Given the description of an element on the screen output the (x, y) to click on. 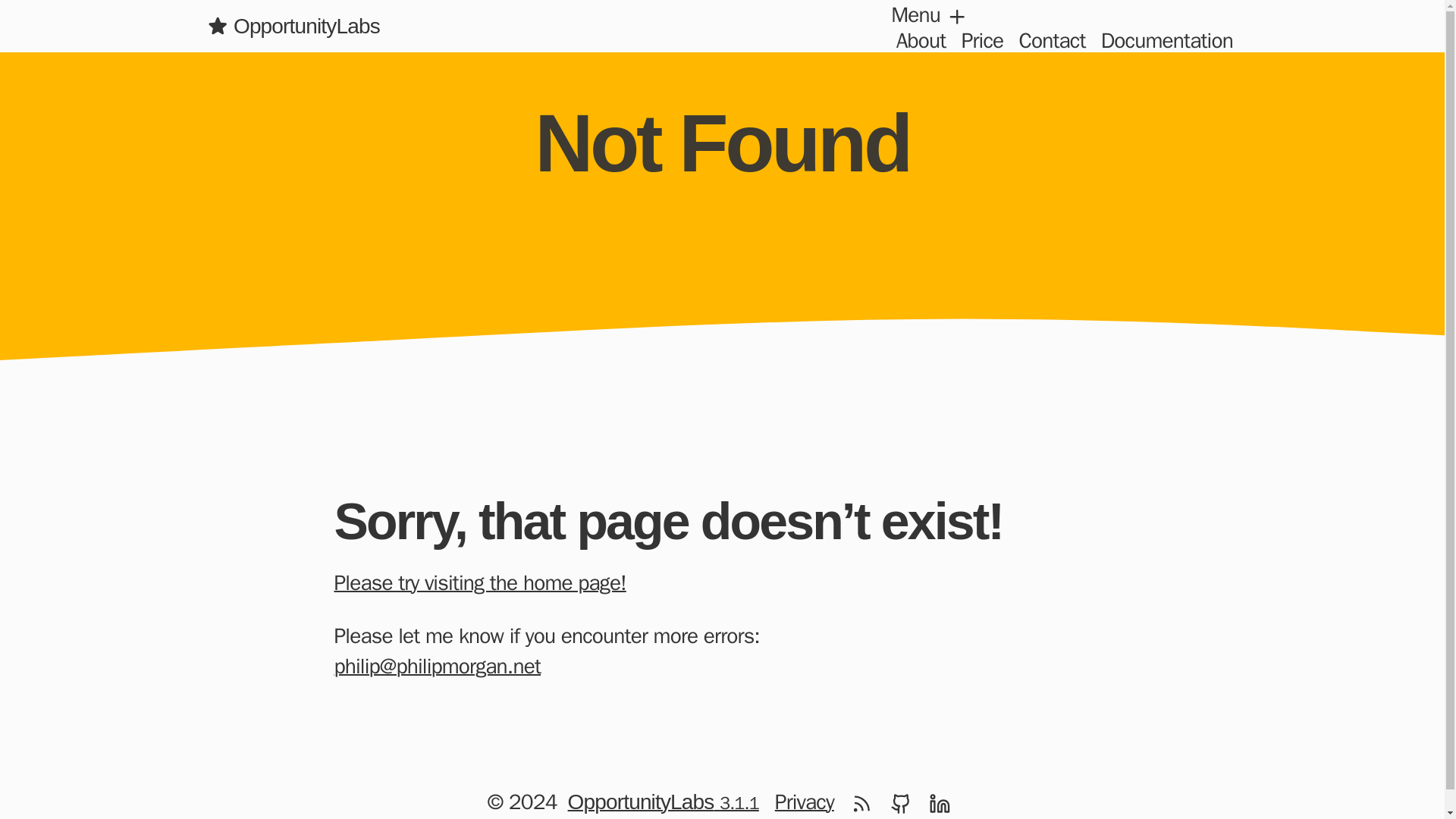
Menu (929, 14)
OpportunityLabs (292, 25)
Documentation (1166, 40)
About (920, 40)
OpportunityLabs 3.1.1 (663, 800)
Please try visiting the home page! (488, 582)
Contact (1051, 40)
Price (982, 40)
Privacy (805, 800)
